Given the description of an element on the screen output the (x, y) to click on. 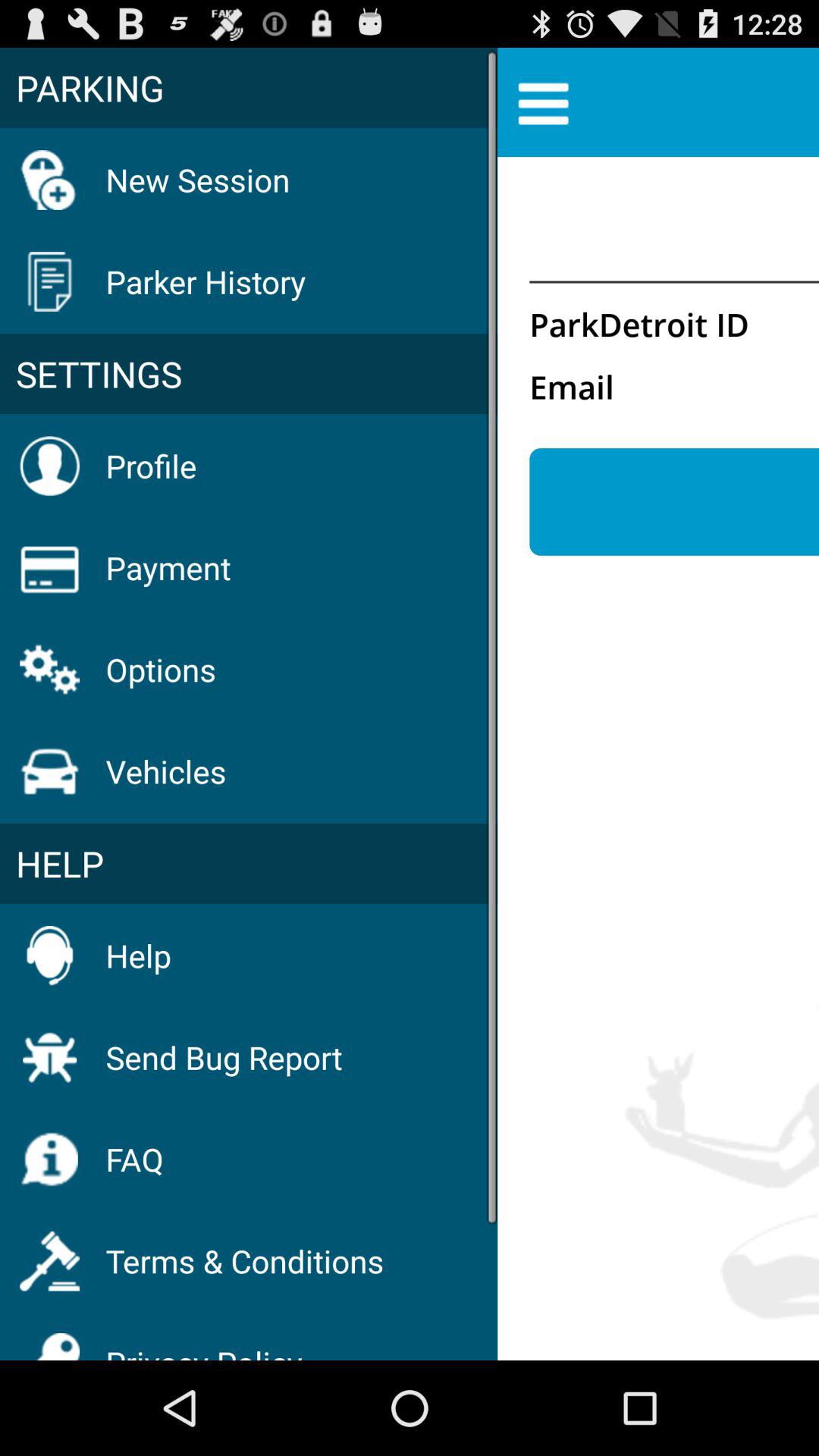
jump until the faq item (134, 1158)
